Given the description of an element on the screen output the (x, y) to click on. 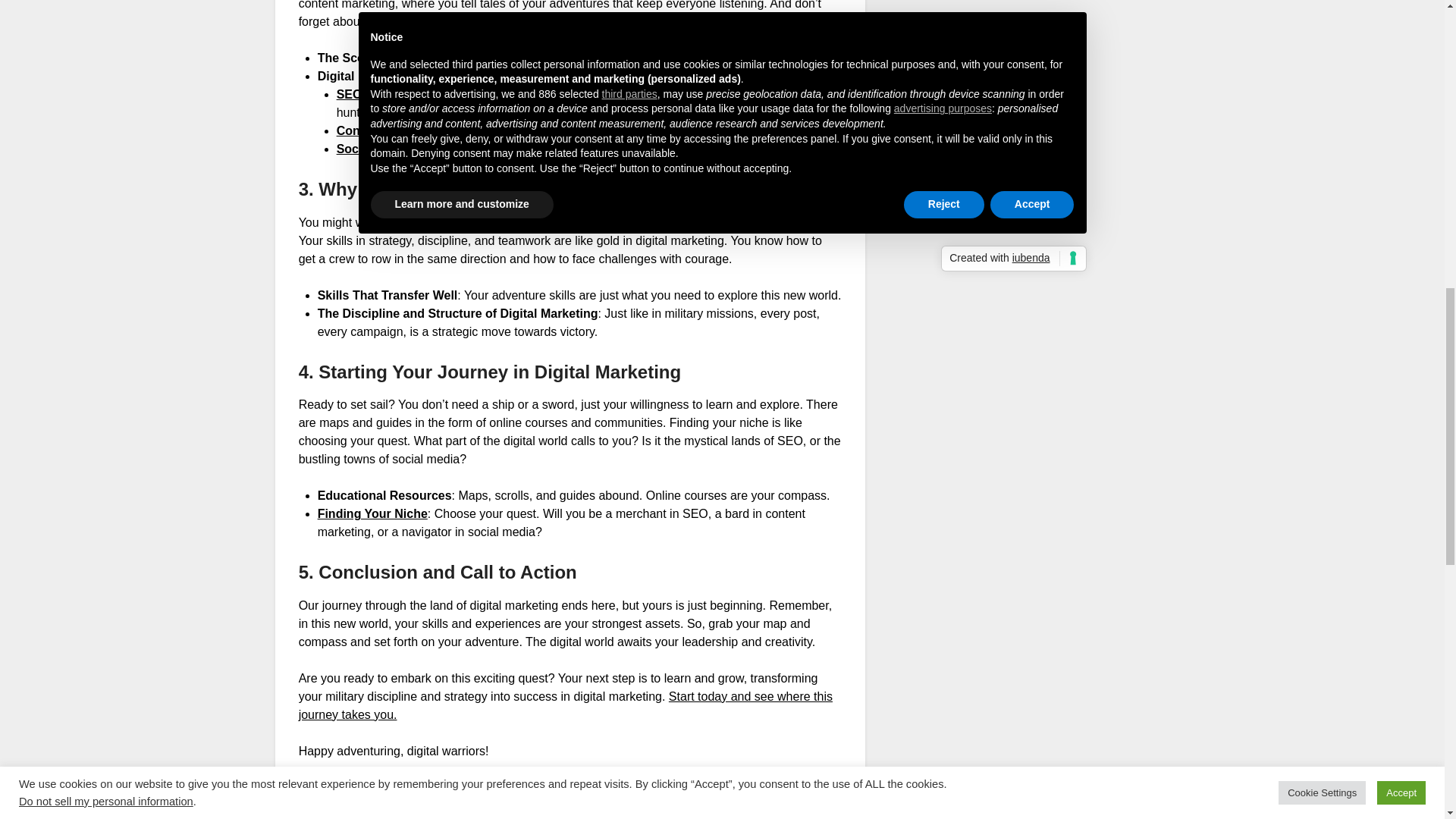
Start today and see where this journey takes you. (565, 705)
WhatsApp (375, 813)
Click to share on WhatsApp (375, 813)
Content Marketing (389, 130)
Social Media Marketing (403, 148)
More (505, 813)
Click to share on Telegram (445, 813)
Telegram (445, 813)
Privacy Policy (951, 123)
Finding Your Niche (372, 513)
Tweet (314, 813)
Terms and Conditions  (970, 141)
